Given the description of an element on the screen output the (x, y) to click on. 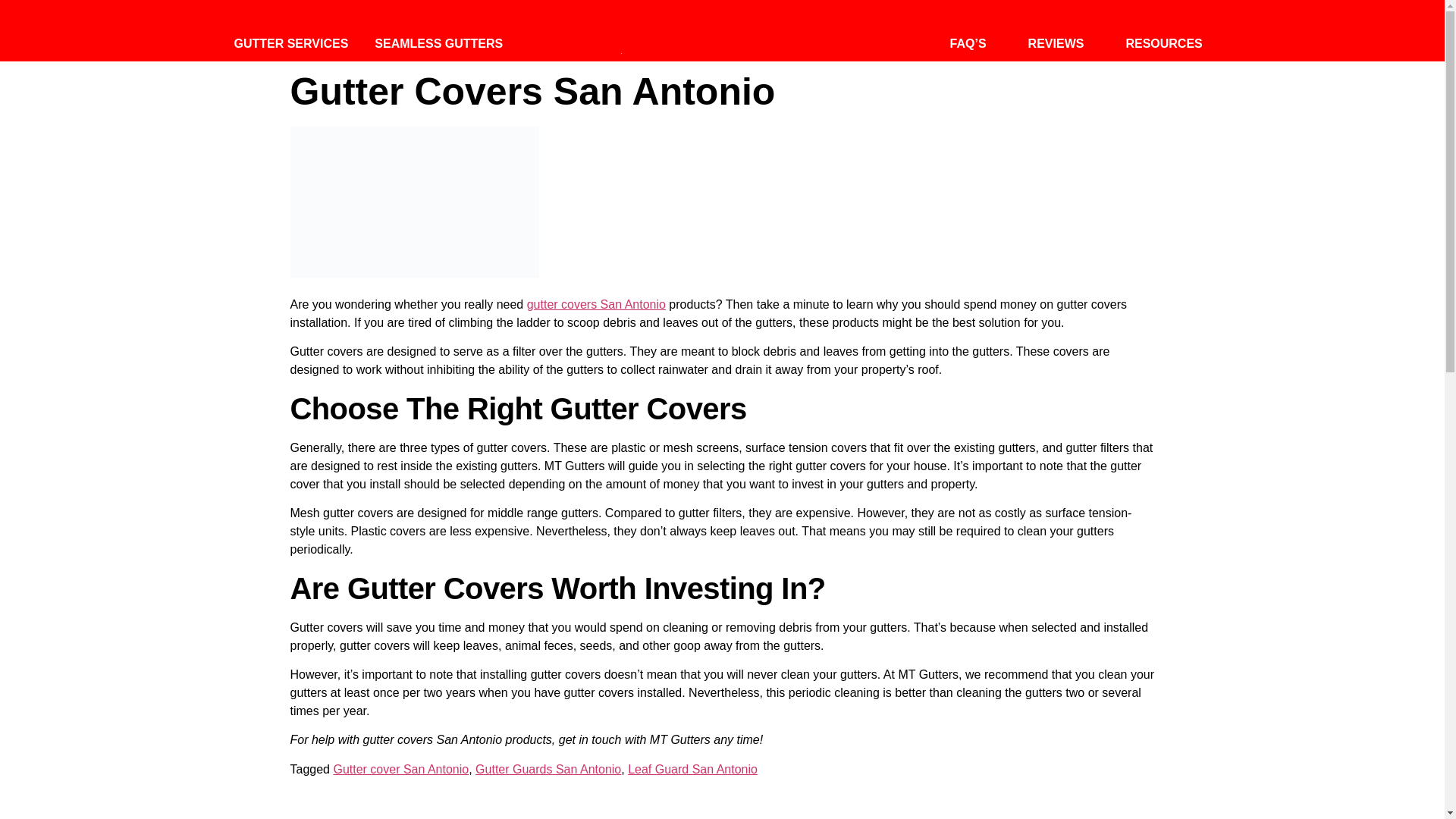
GUTTER SERVICES (289, 43)
RESOURCES (1163, 43)
SEAMLESS GUTTERS (438, 43)
REVIEWS (1055, 43)
